Given the description of an element on the screen output the (x, y) to click on. 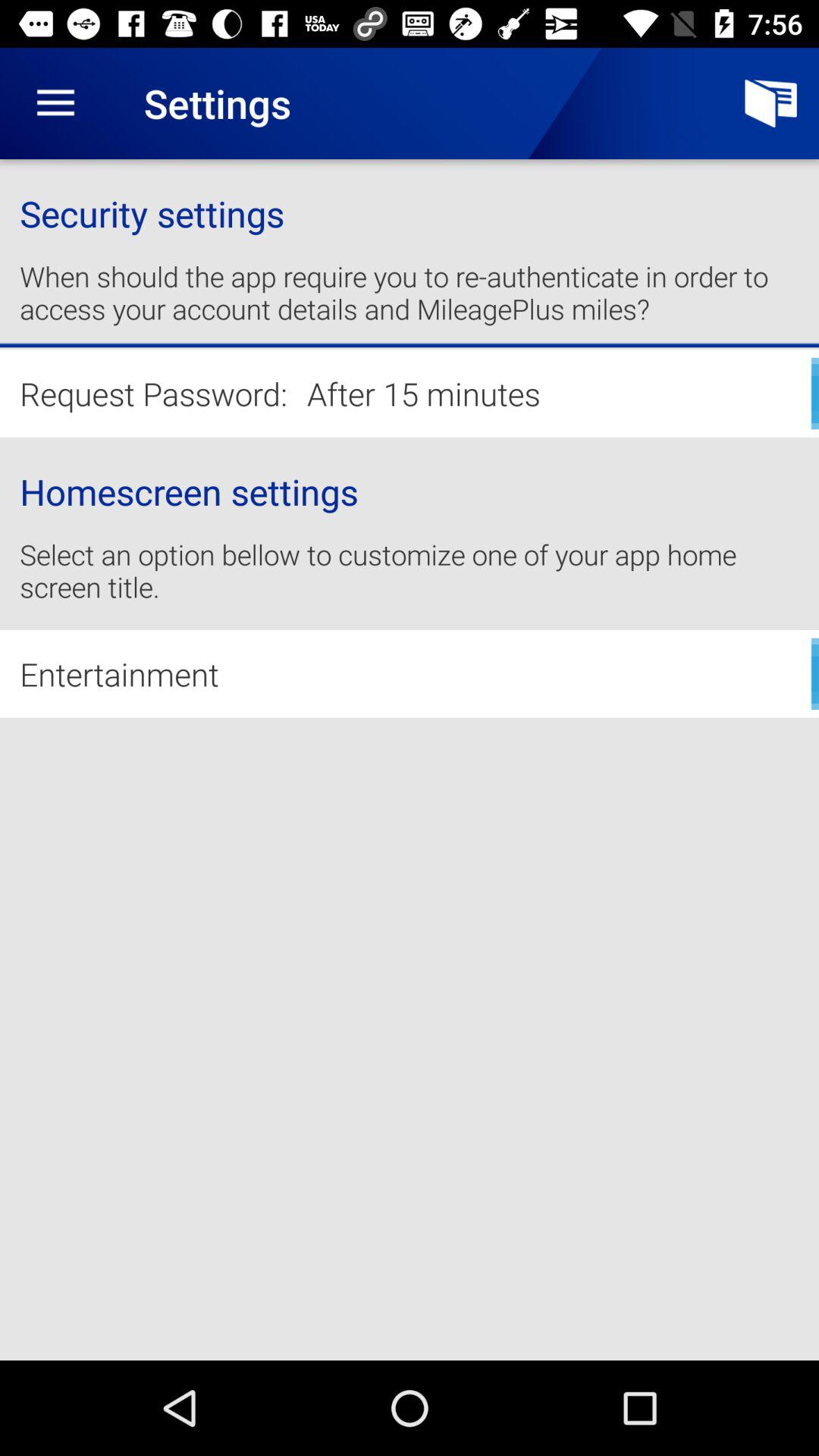
select item above security settings item (55, 103)
